Given the description of an element on the screen output the (x, y) to click on. 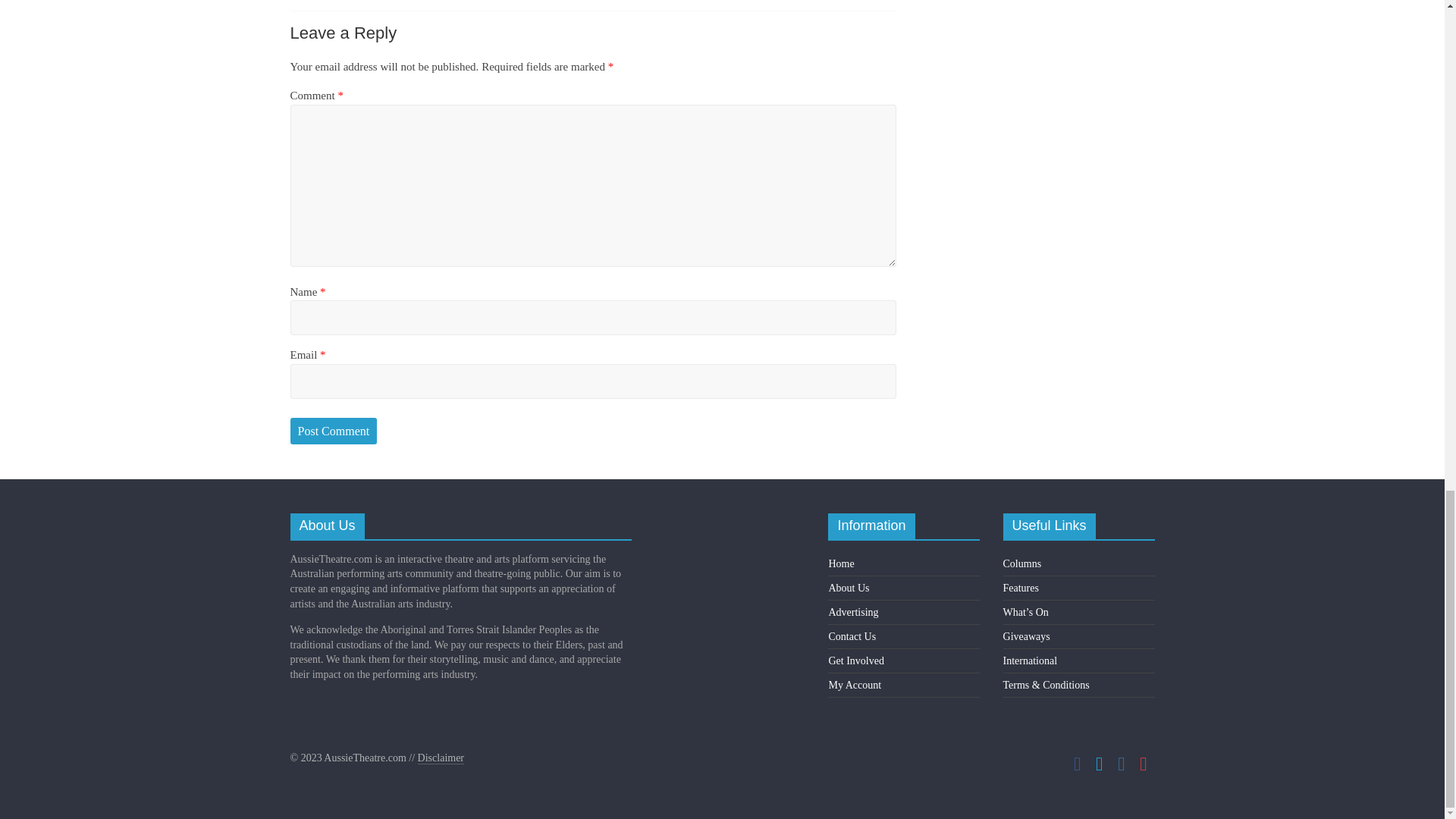
About Us (848, 587)
Home (840, 563)
Post Comment (333, 431)
Post Comment (333, 431)
